Given the description of an element on the screen output the (x, y) to click on. 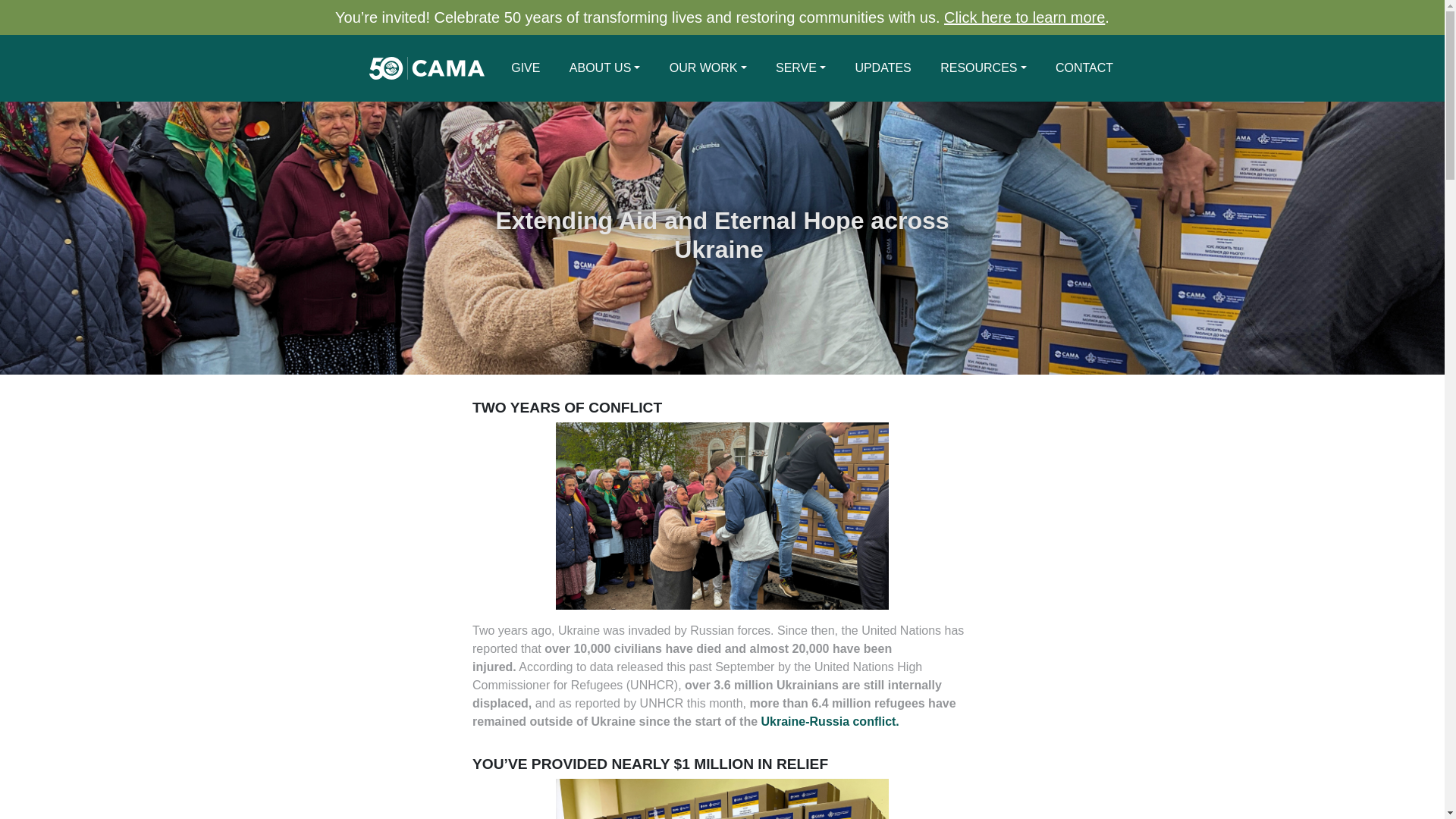
UPDATES (883, 68)
Ukraine-Russia conflict. (830, 721)
SERVE (800, 68)
ABOUT US (604, 68)
GIVE (525, 68)
Click here to learn more (1024, 17)
CONTACT (1084, 68)
OUR WORK (708, 68)
RESOURCES (983, 68)
